Given the description of an element on the screen output the (x, y) to click on. 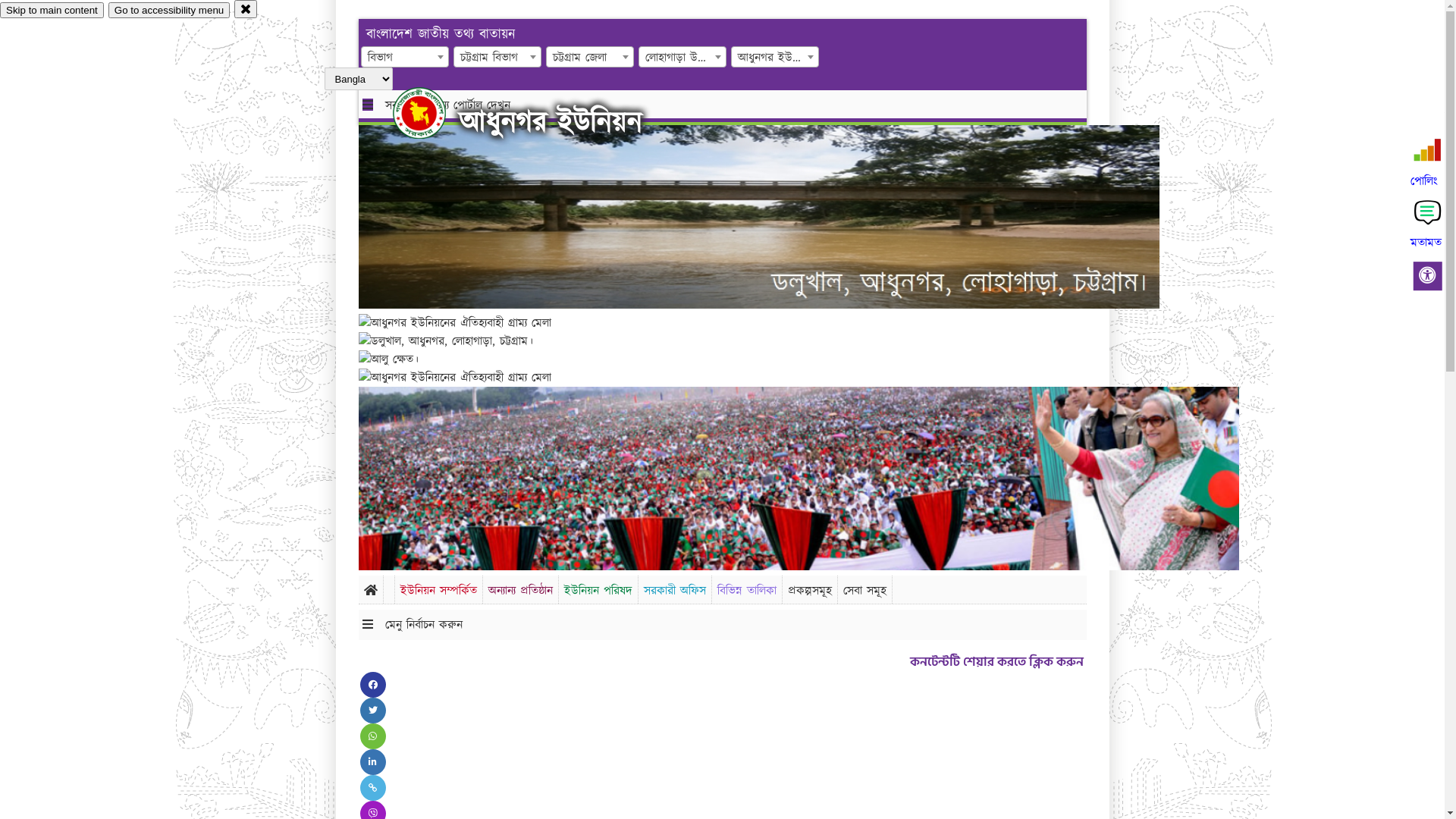
Go to accessibility menu Element type: text (168, 10)

                
             Element type: hover (431, 112)
Skip to main content Element type: text (51, 10)
close Element type: hover (245, 9)
